Given the description of an element on the screen output the (x, y) to click on. 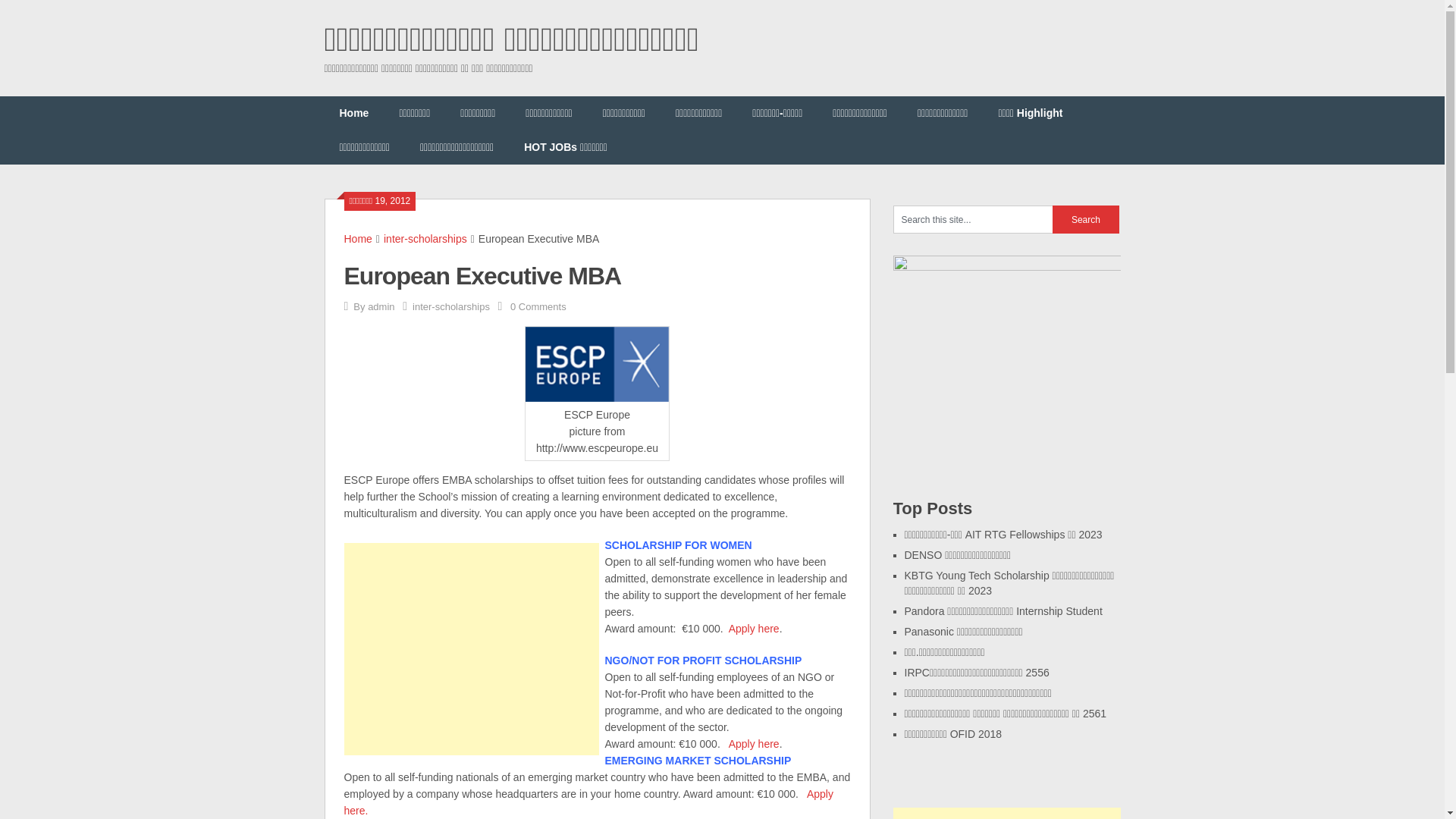
Search this site... (972, 219)
Home (357, 238)
Advertisement (470, 648)
0 Comments (538, 306)
Apply here (753, 628)
Search (1085, 219)
inter-scholarships (450, 306)
admin (381, 306)
Home (354, 113)
inter-scholarships (425, 238)
